Given the description of an element on the screen output the (x, y) to click on. 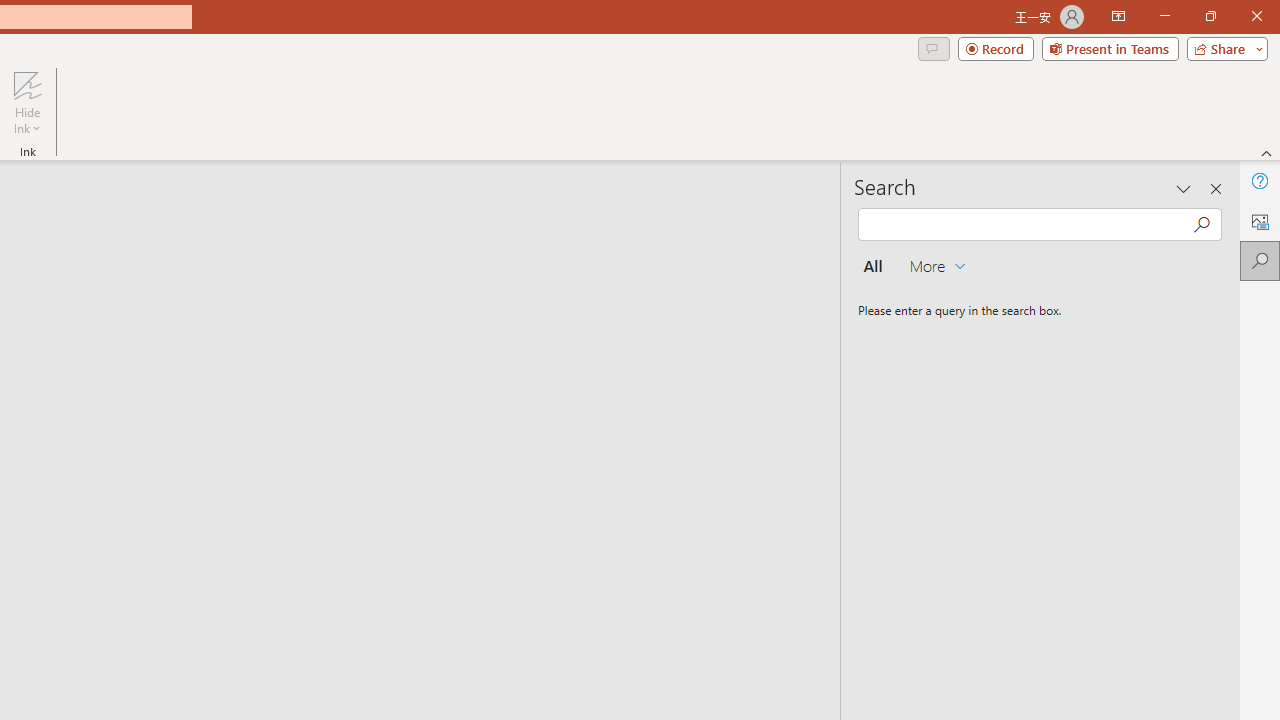
Alt Text (1260, 220)
